Given the description of an element on the screen output the (x, y) to click on. 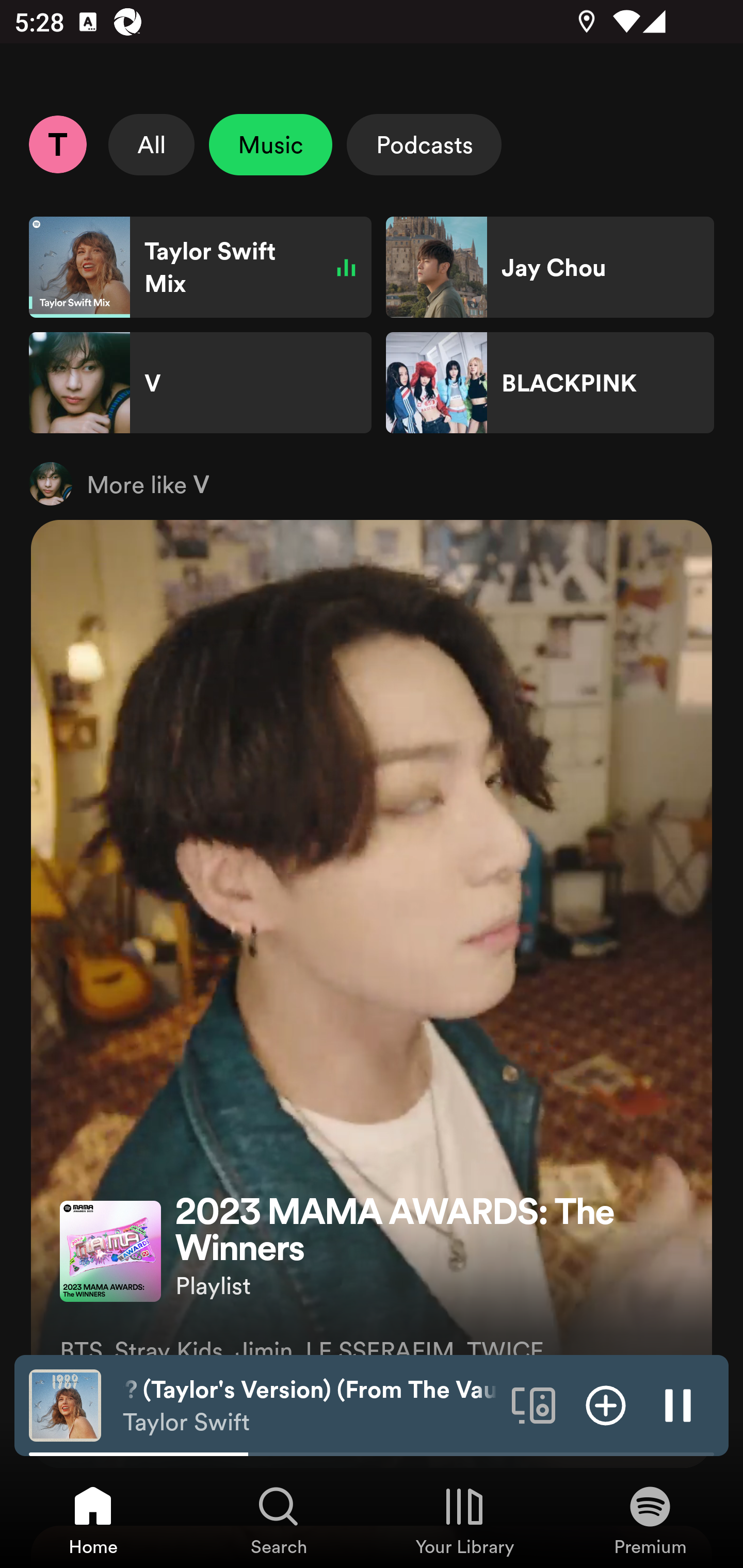
Profile (57, 144)
All Select All (151, 144)
Music Unselect Music (270, 144)
Podcasts Select Podcasts (423, 144)
Taylor Swift Mix Shortcut Taylor Swift Mix Playing (199, 267)
Jay Chou Shortcut Jay Chou (549, 267)
V Shortcut V (199, 382)
BLACKPINK Shortcut BLACKPINK (549, 382)
More like V (371, 483)
The cover art of the currently playing track (64, 1404)
Connect to a device. Opens the devices menu (533, 1404)
Add item (605, 1404)
Pause (677, 1404)
Home, Tab 1 of 4 Home Home (92, 1519)
Search, Tab 2 of 4 Search Search (278, 1519)
Your Library, Tab 3 of 4 Your Library Your Library (464, 1519)
Premium, Tab 4 of 4 Premium Premium (650, 1519)
